Given the description of an element on the screen output the (x, y) to click on. 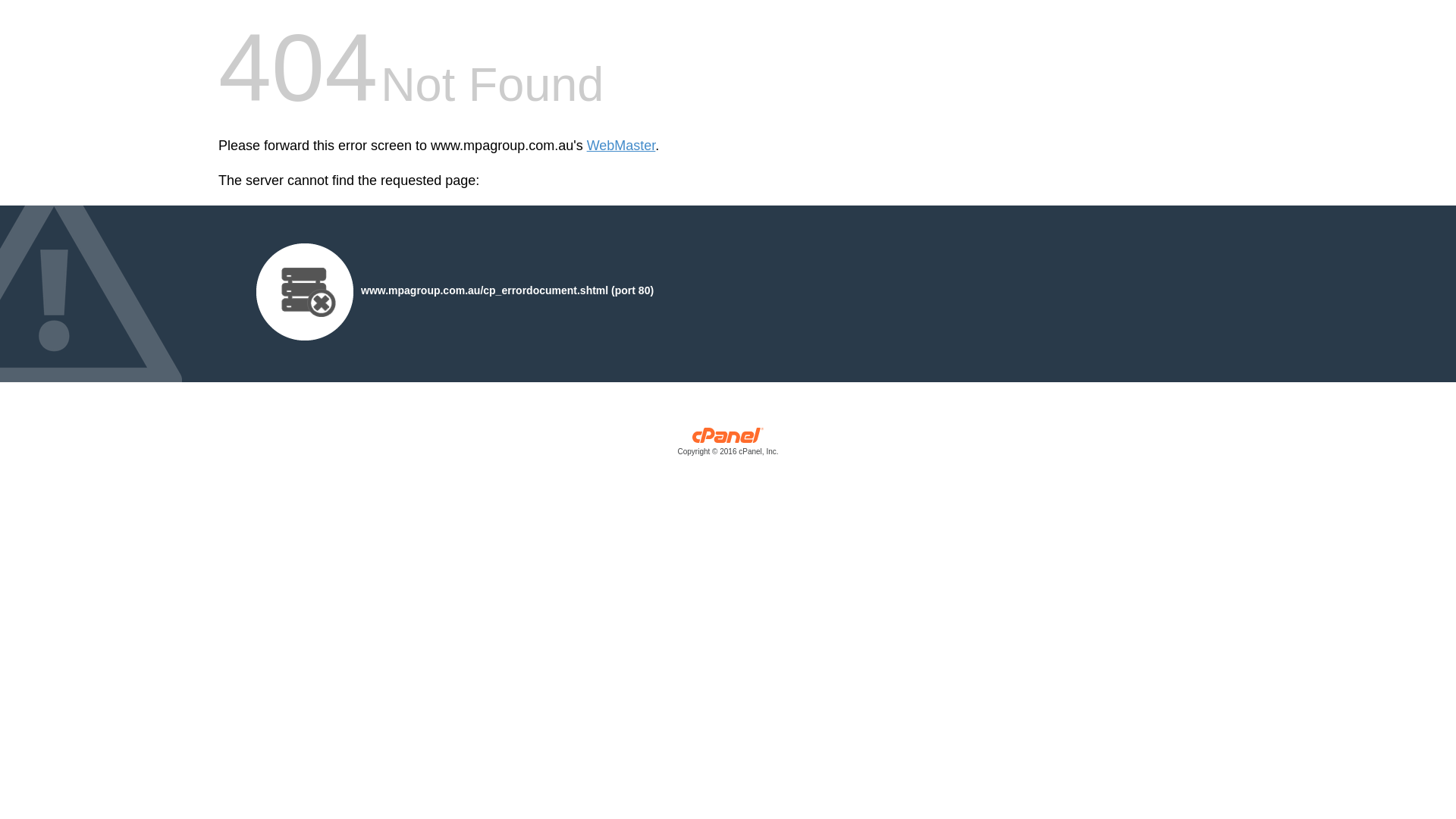
WebMaster Element type: text (620, 145)
